Given the description of an element on the screen output the (x, y) to click on. 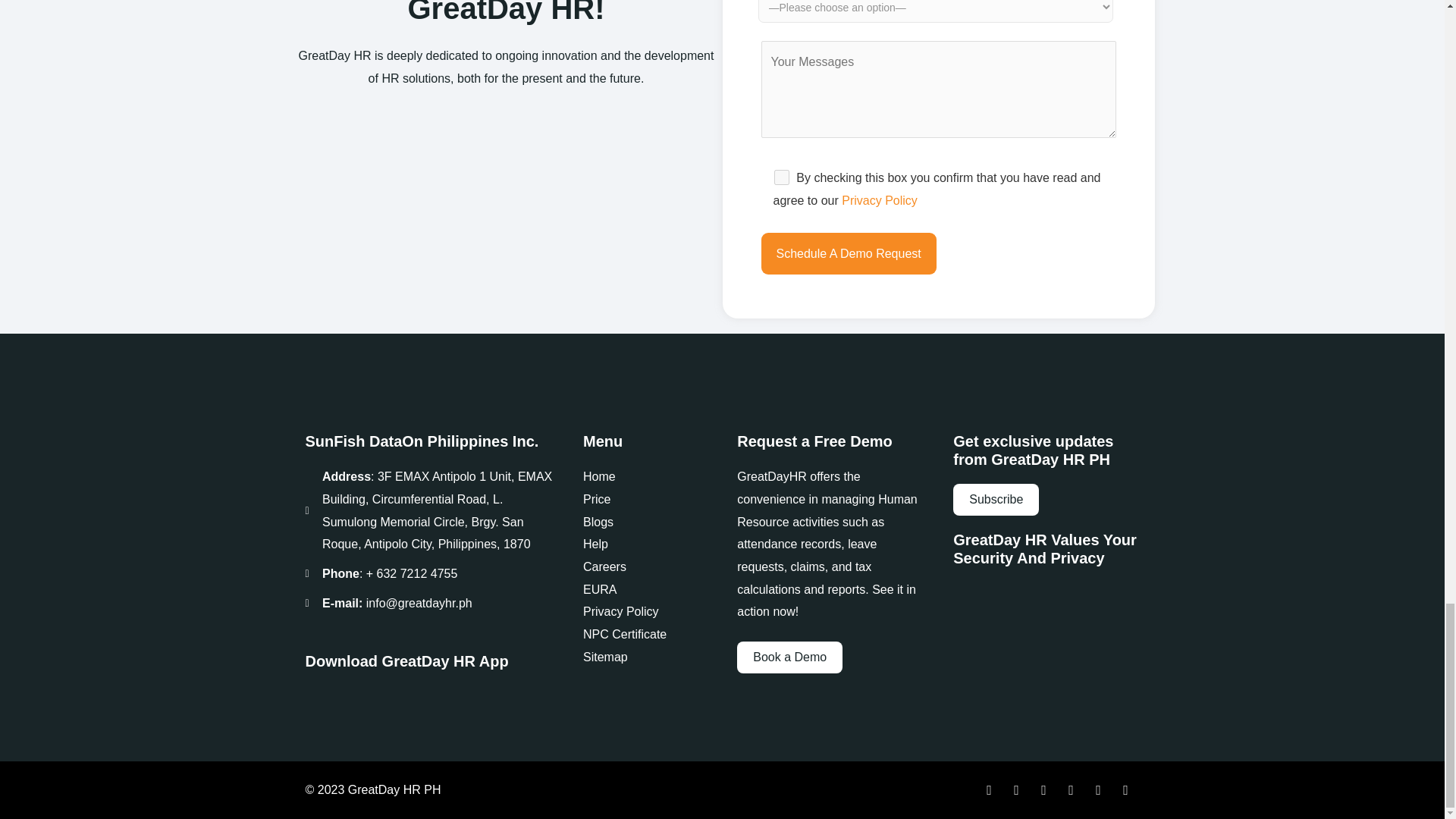
Schedule A Demo Request (848, 253)
1 (781, 176)
